Given the description of an element on the screen output the (x, y) to click on. 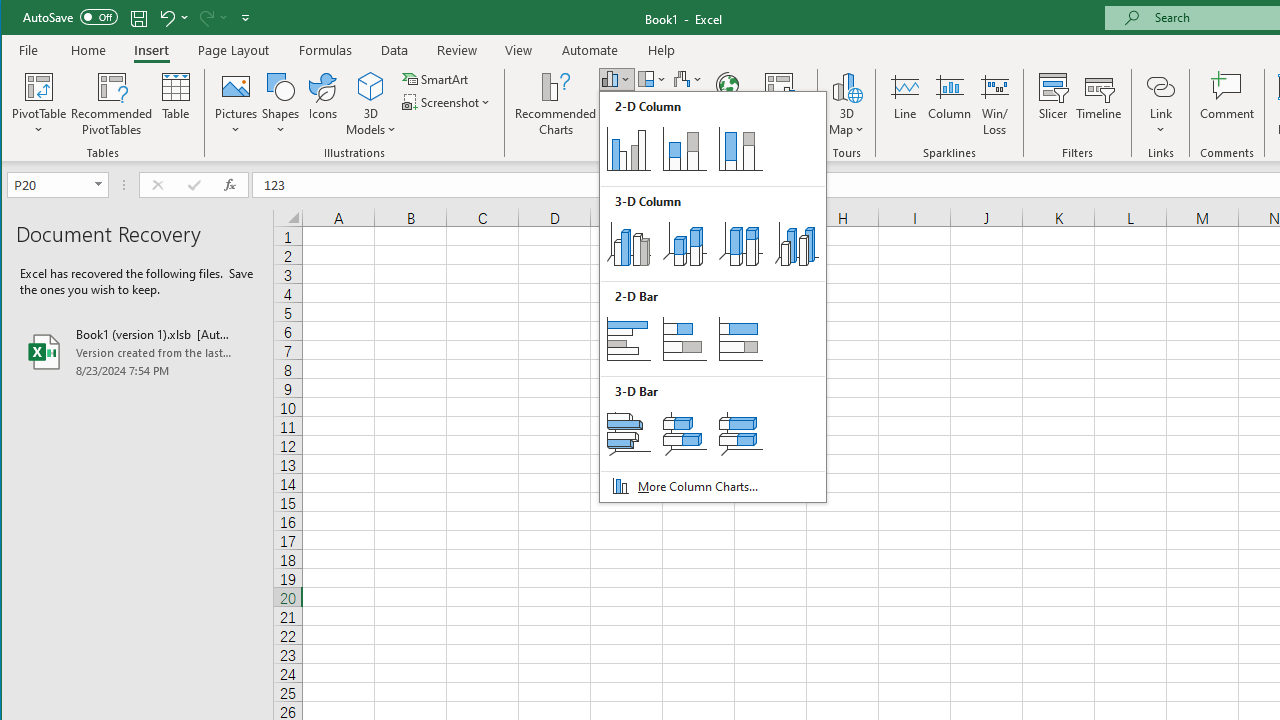
View (518, 50)
Automate (589, 50)
SmartArt... (436, 78)
Open (99, 184)
Name Box (49, 184)
